Given the description of an element on the screen output the (x, y) to click on. 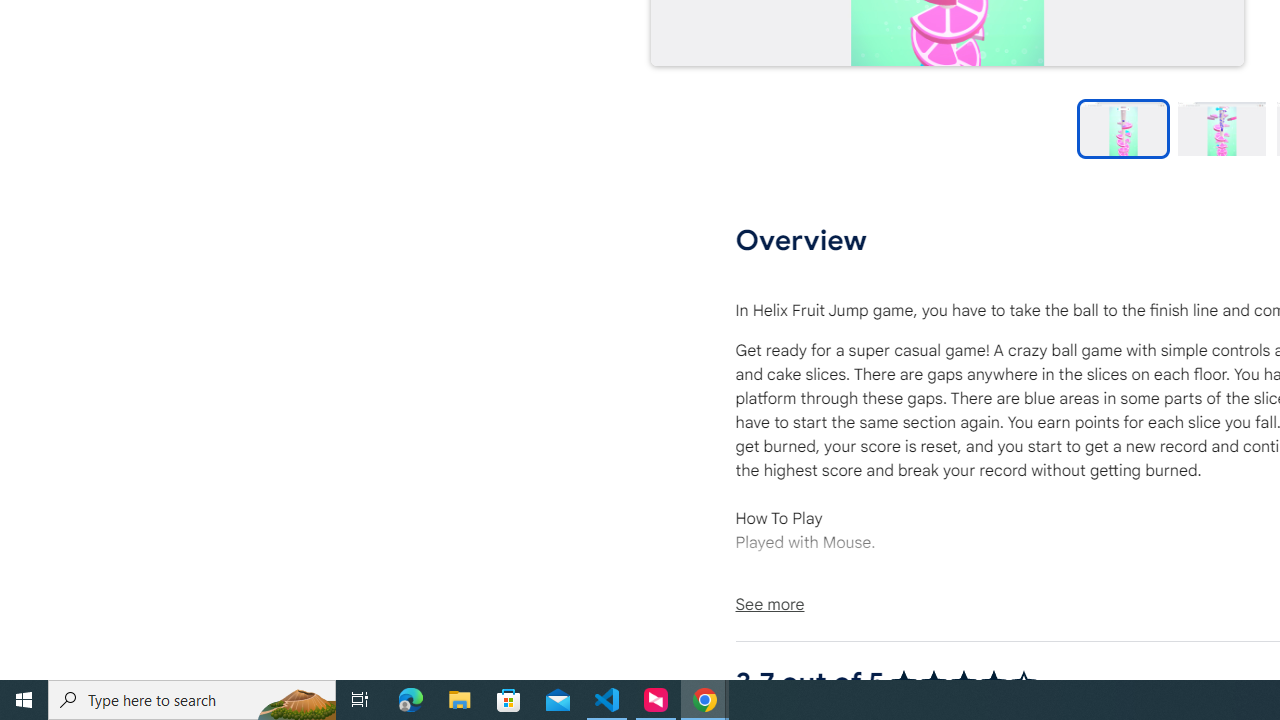
3.7 out of 5 stars (963, 682)
Preview slide 1 (1123, 128)
Preview slide 2 (1221, 128)
